Given the description of an element on the screen output the (x, y) to click on. 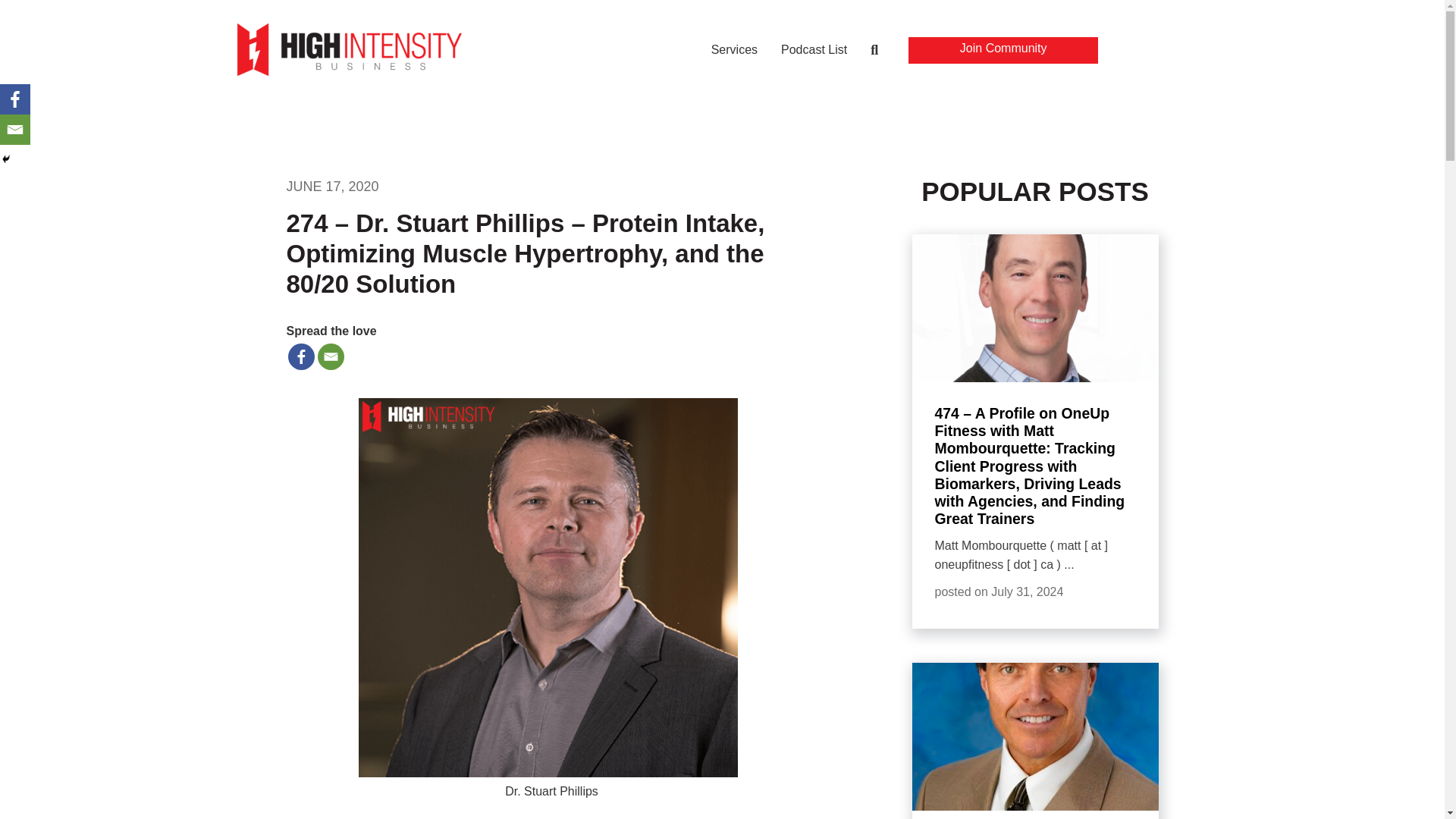
HIGH INTENSITY BUSINESS LOGO (348, 49)
Services (734, 51)
Facebook (15, 99)
Join Community (1002, 49)
Email (15, 129)
Hide (5, 159)
Podcast List (814, 51)
